Given the description of an element on the screen output the (x, y) to click on. 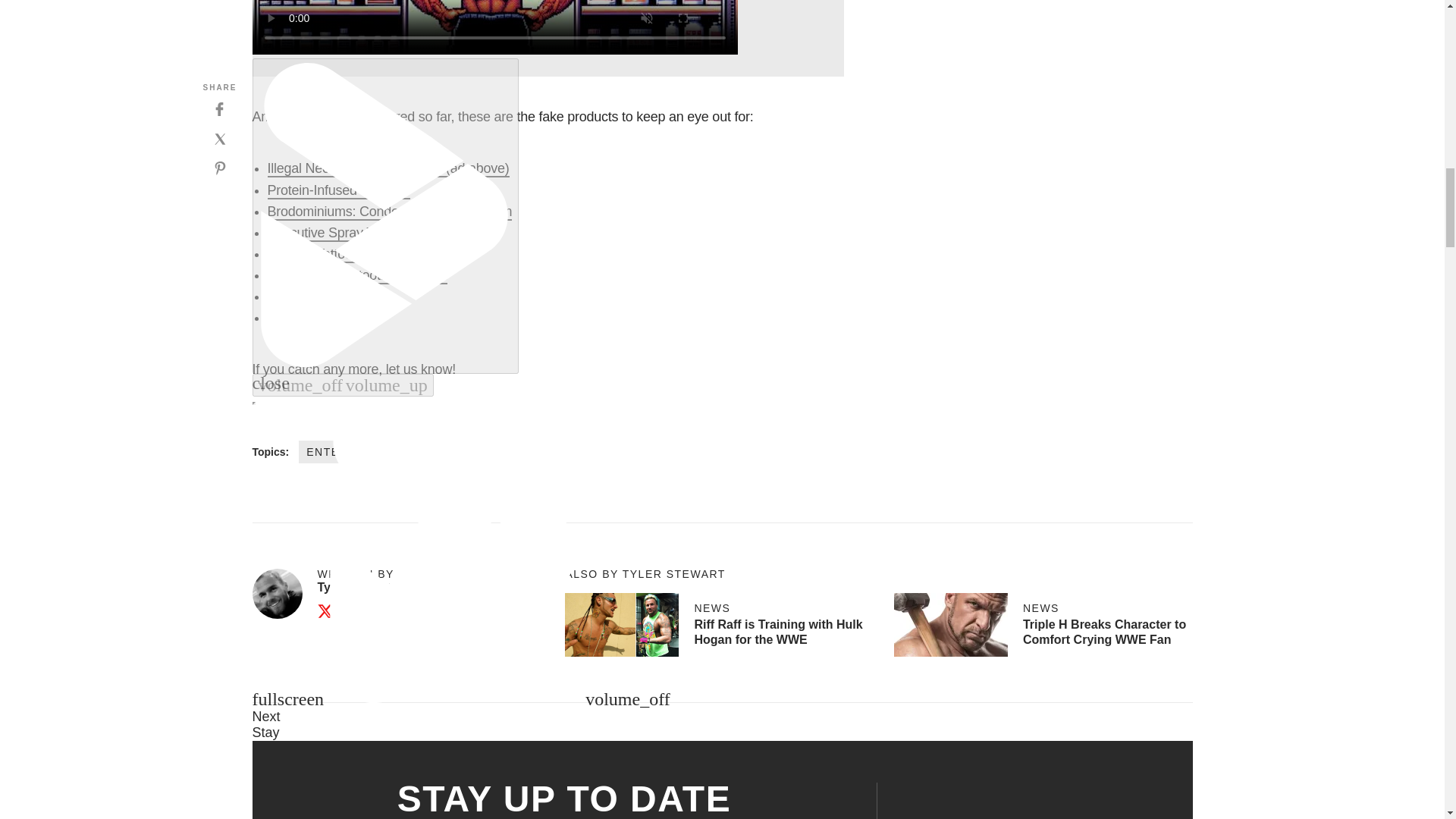
Posts by Tyler Stewart (353, 586)
